Given the description of an element on the screen output the (x, y) to click on. 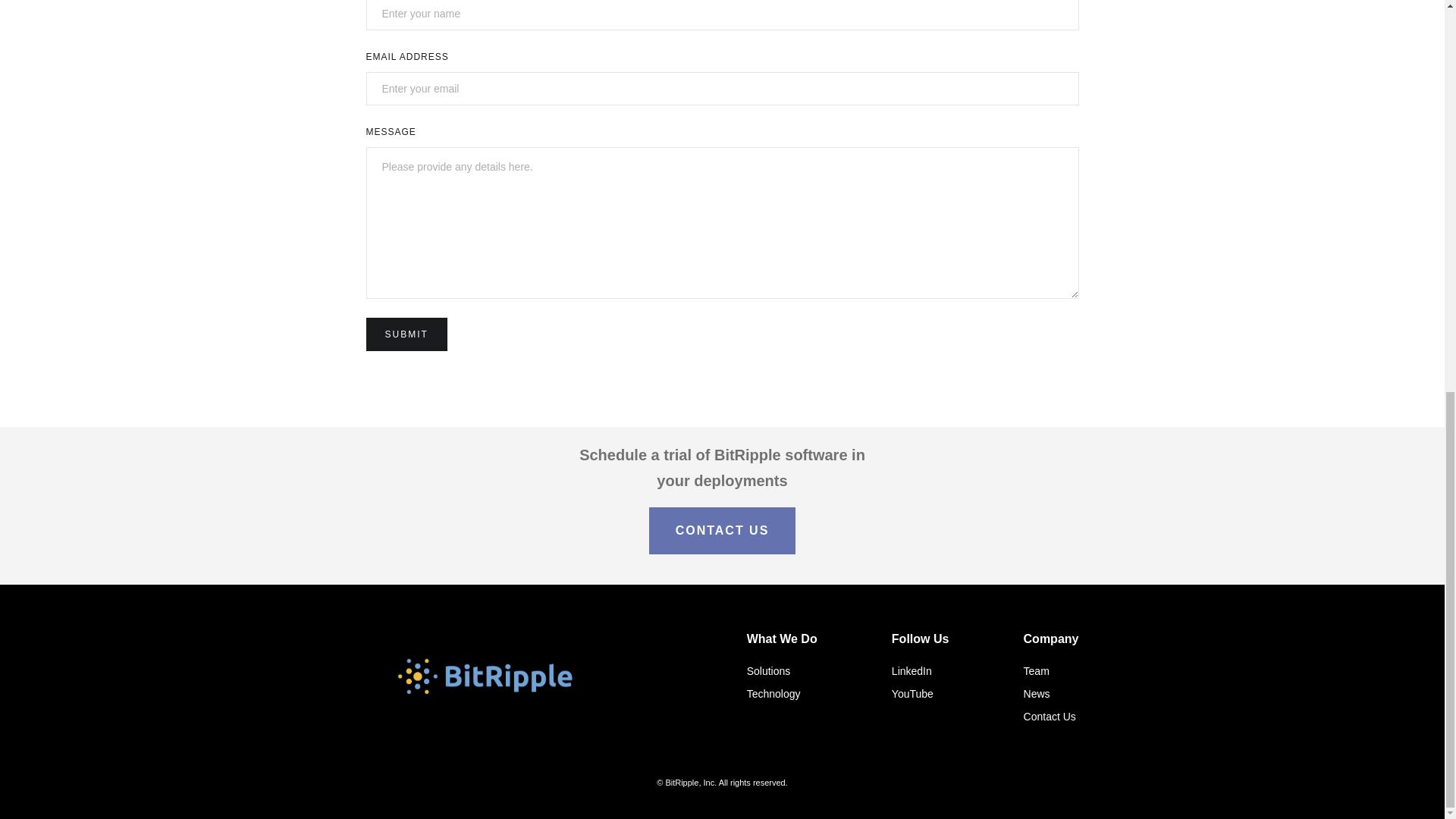
CONTACT US (722, 530)
Submit (405, 334)
Contact Us (1050, 716)
Solutions (781, 670)
News (1050, 693)
Submit (405, 334)
Technology (781, 693)
LinkedIn (920, 670)
Team (1050, 670)
YouTube (920, 693)
